Given the description of an element on the screen output the (x, y) to click on. 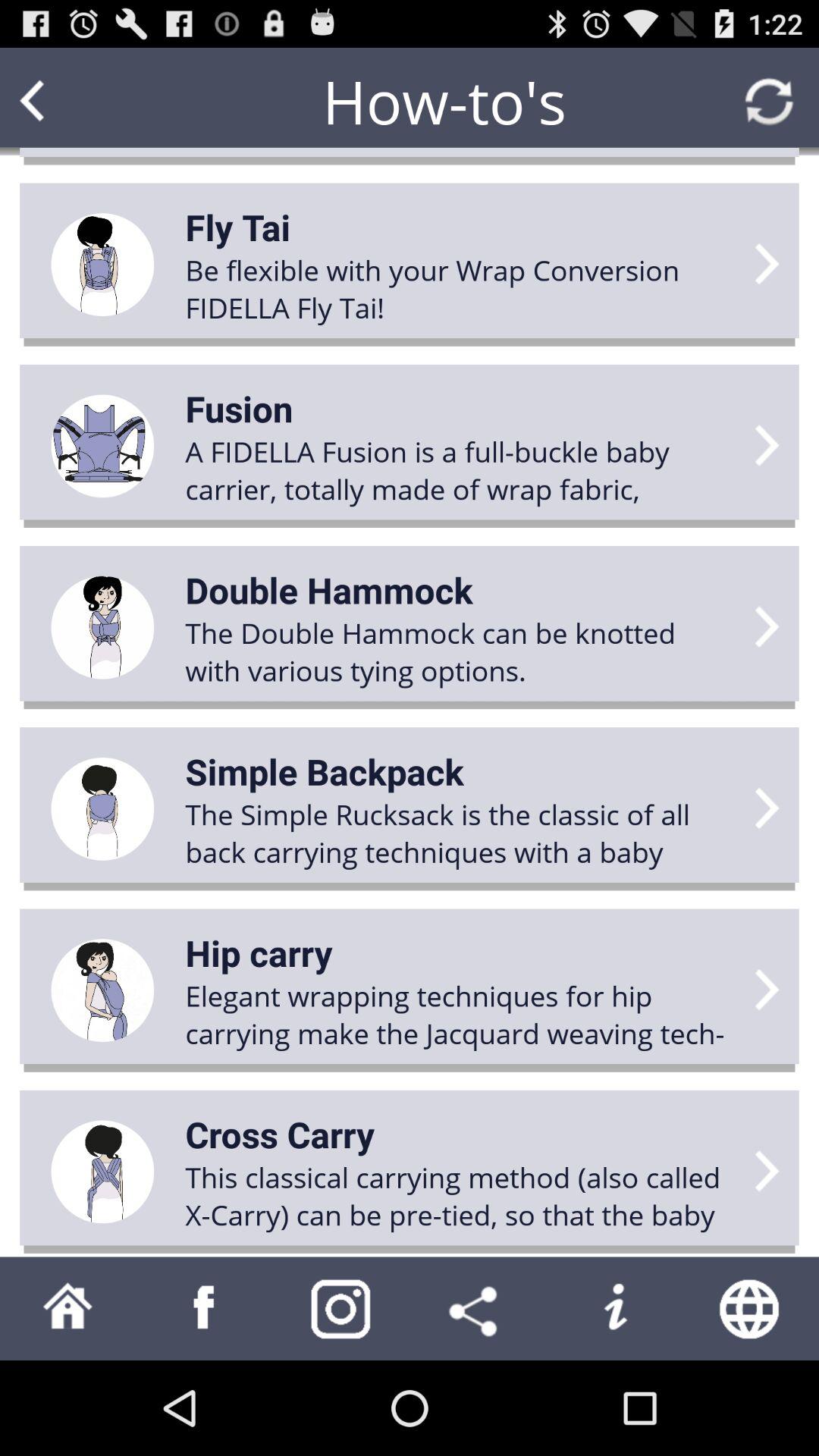
search web (750, 1308)
